Given the description of an element on the screen output the (x, y) to click on. 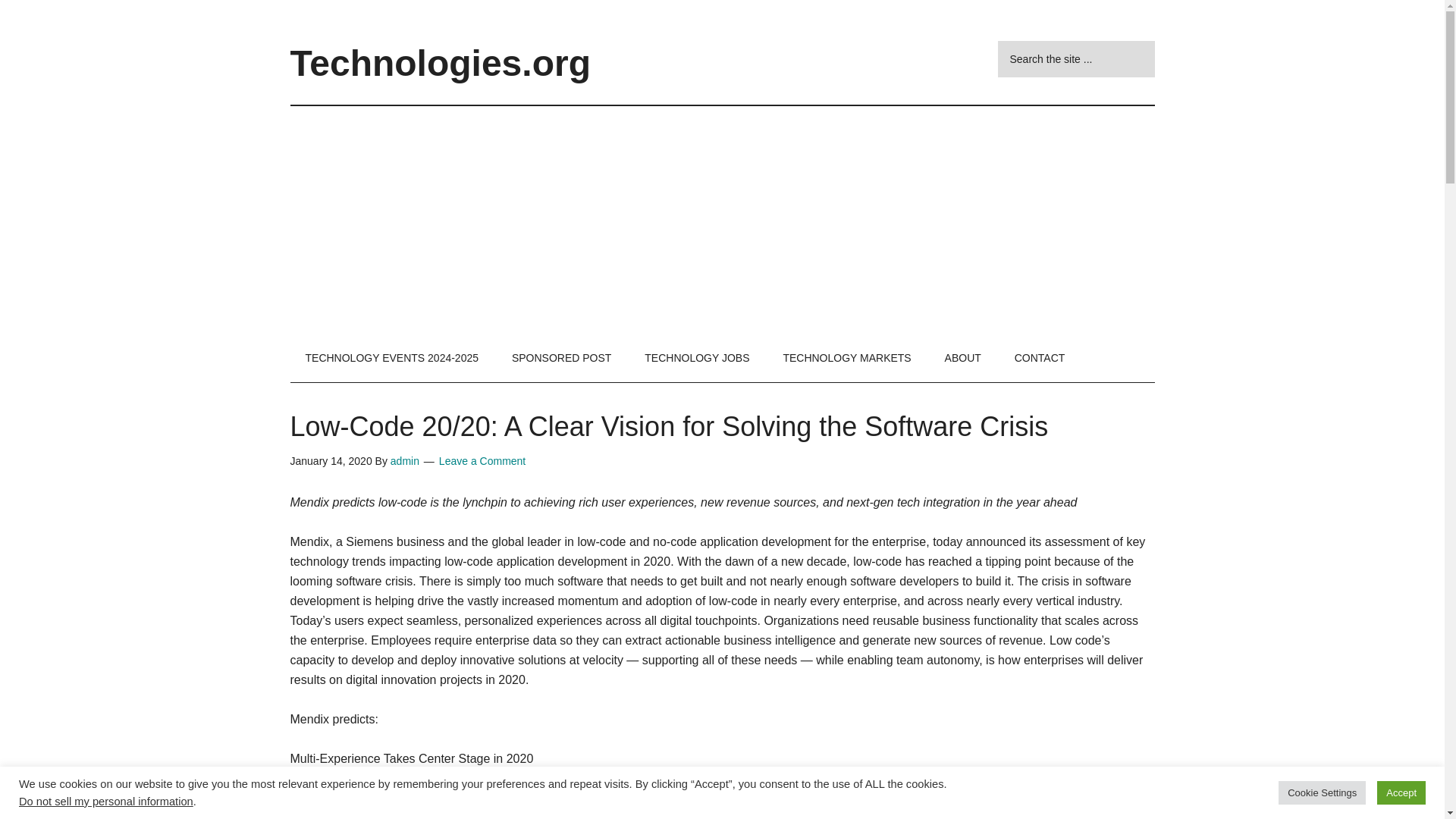
ABOUT (962, 357)
Technologies.org (439, 63)
TECHNOLOGY JOBS (696, 357)
TECHNOLOGY MARKETS (846, 357)
SPONSORED POST (561, 357)
CONTACT (1039, 357)
Leave a Comment (482, 460)
TECHNOLOGY EVENTS 2024-2025 (391, 357)
admin (404, 460)
